Given the description of an element on the screen output the (x, y) to click on. 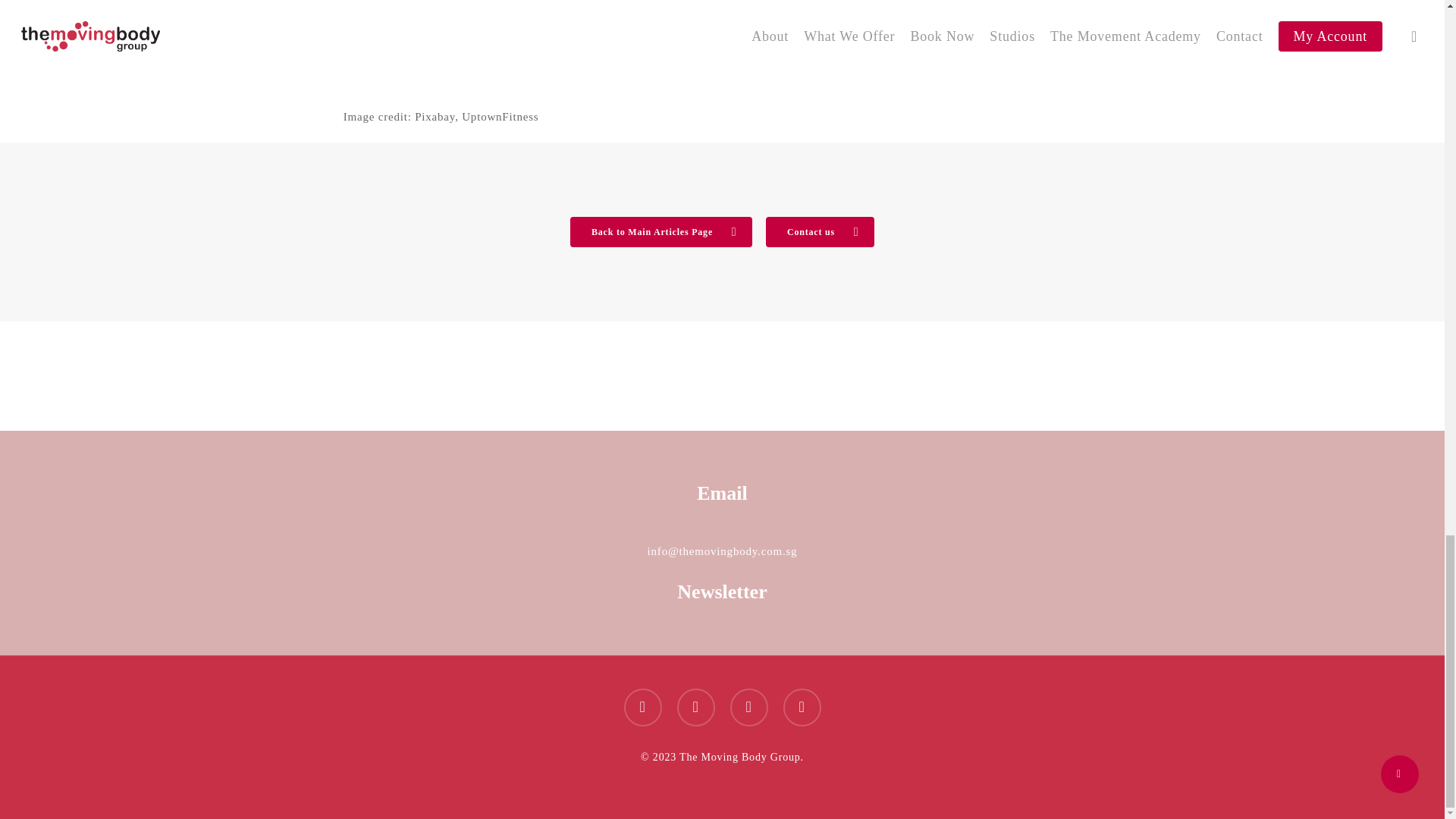
Contact us (820, 231)
Back to Main Articles Page (661, 231)
